Given the description of an element on the screen output the (x, y) to click on. 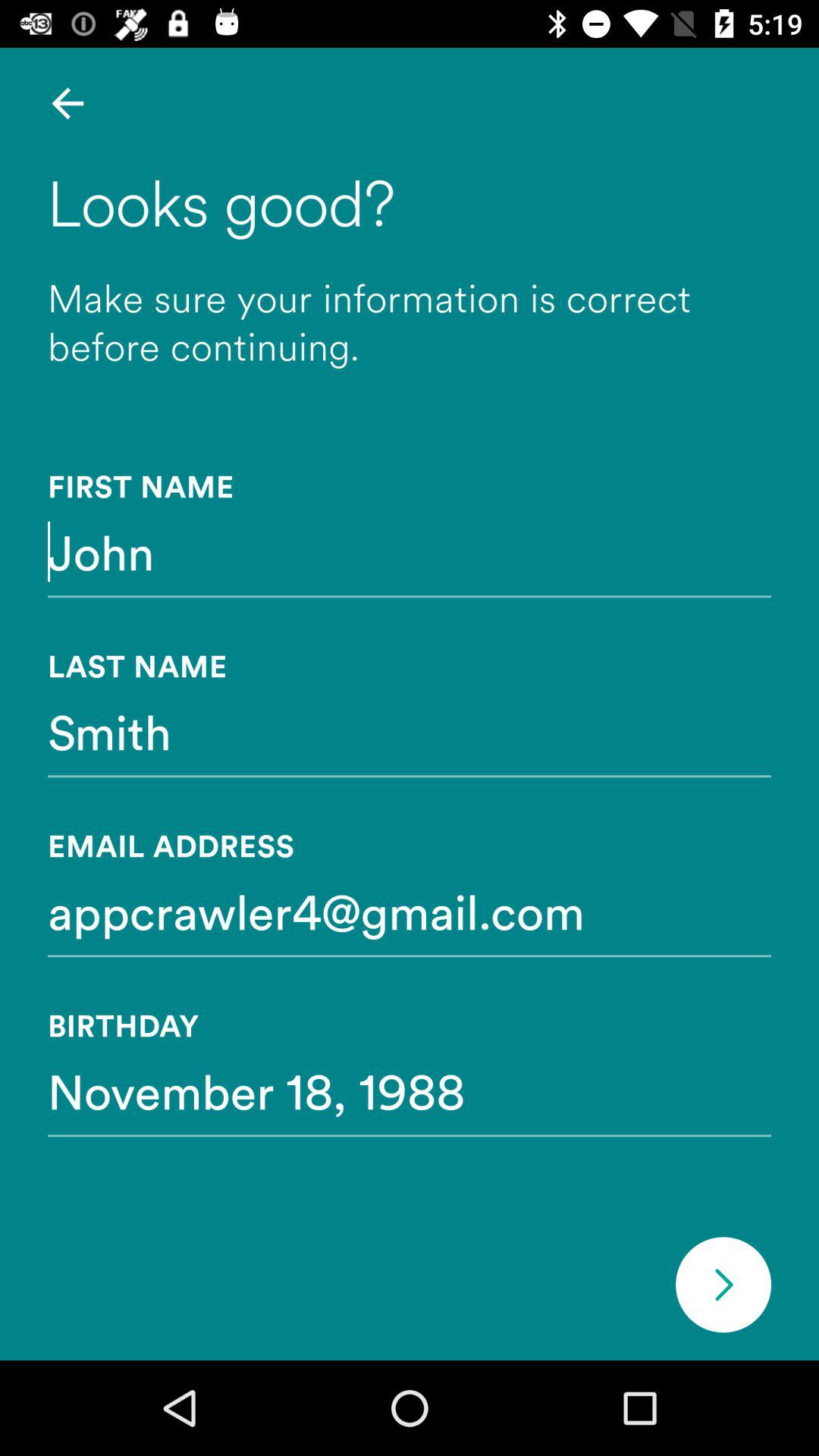
open icon below last name item (409, 731)
